Given the description of an element on the screen output the (x, y) to click on. 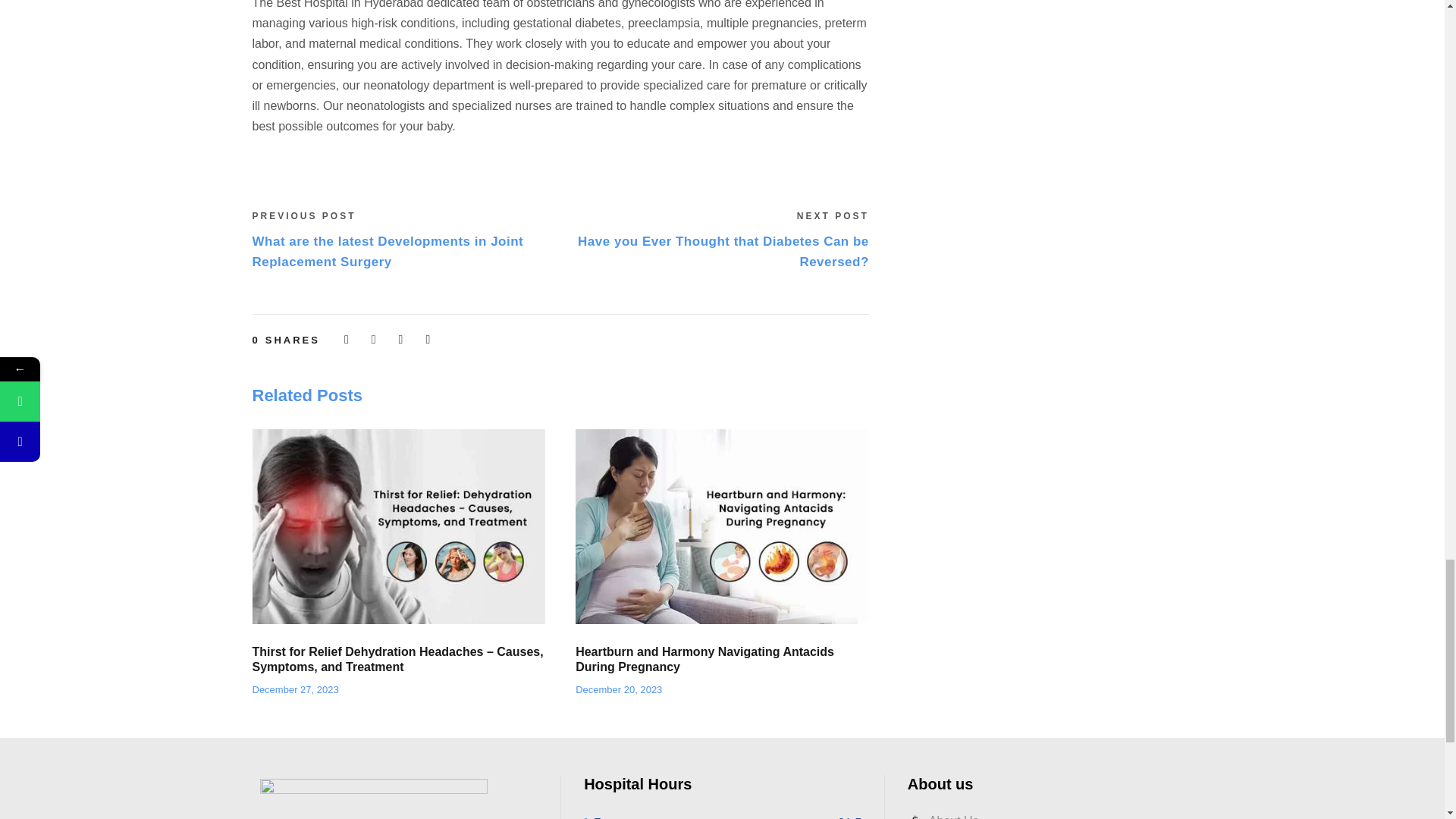
Heartburn and Harmony Navigating Antacids During Pregnancy (722, 526)
